Given the description of an element on the screen output the (x, y) to click on. 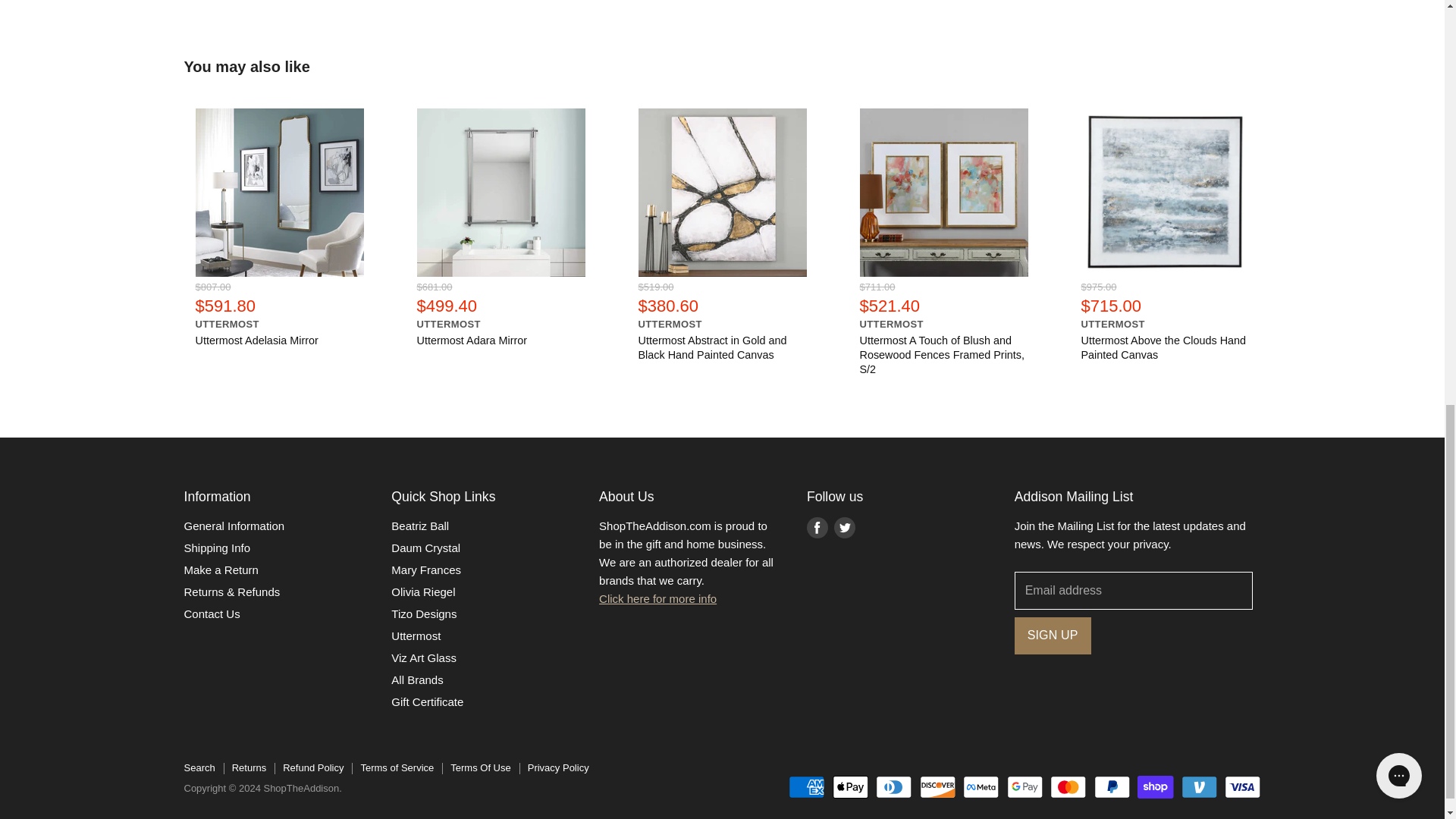
Twitter (845, 527)
About Us (657, 598)
Facebook (817, 527)
